Given the description of an element on the screen output the (x, y) to click on. 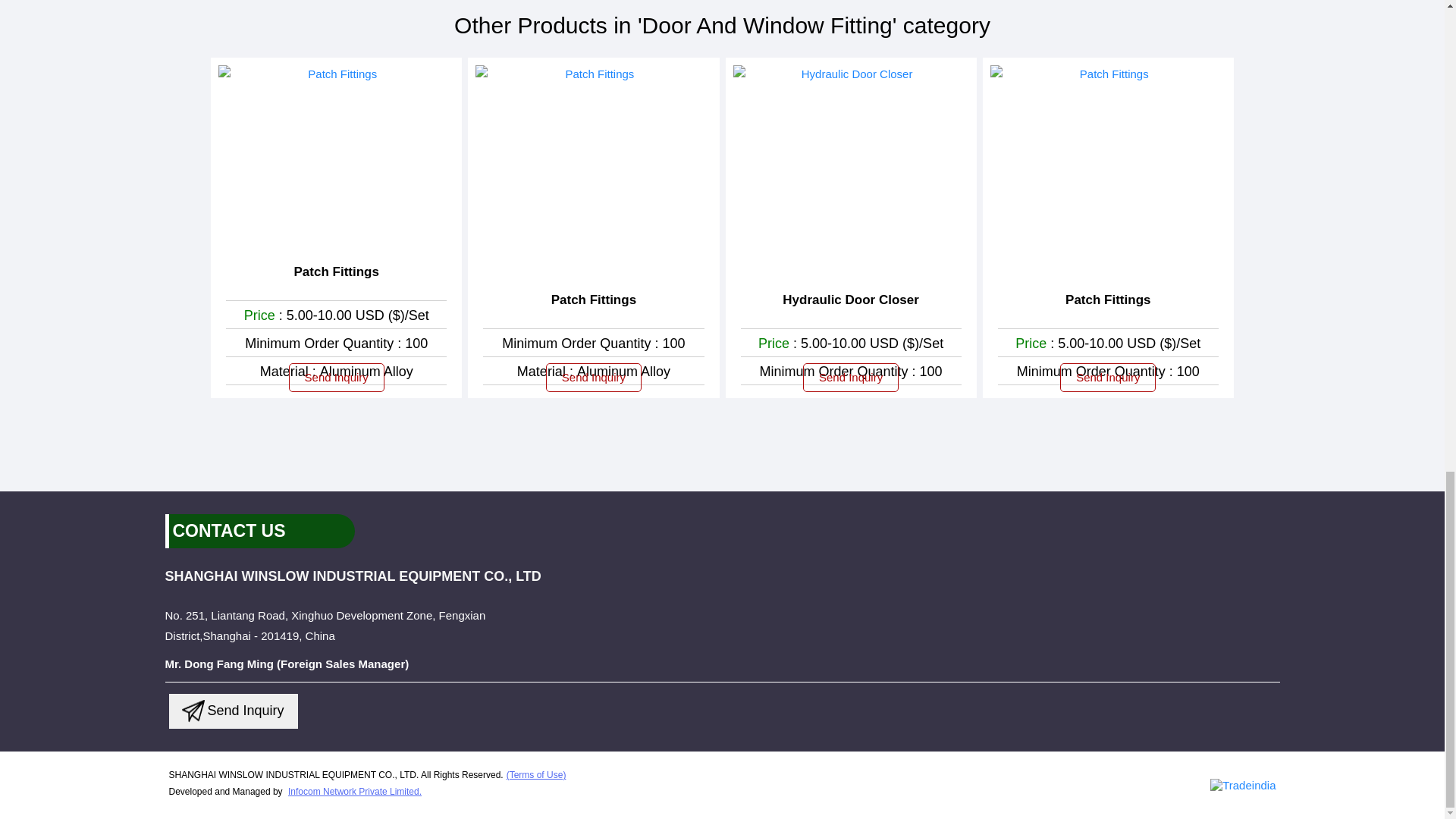
Send Inquiry (193, 711)
Patch Fittings (336, 271)
Patch Fittings (593, 300)
Send Inquiry (594, 377)
Hydraulic Door Closer (850, 300)
Send Inquiry (336, 377)
Send Inquiry (850, 377)
